Given the description of an element on the screen output the (x, y) to click on. 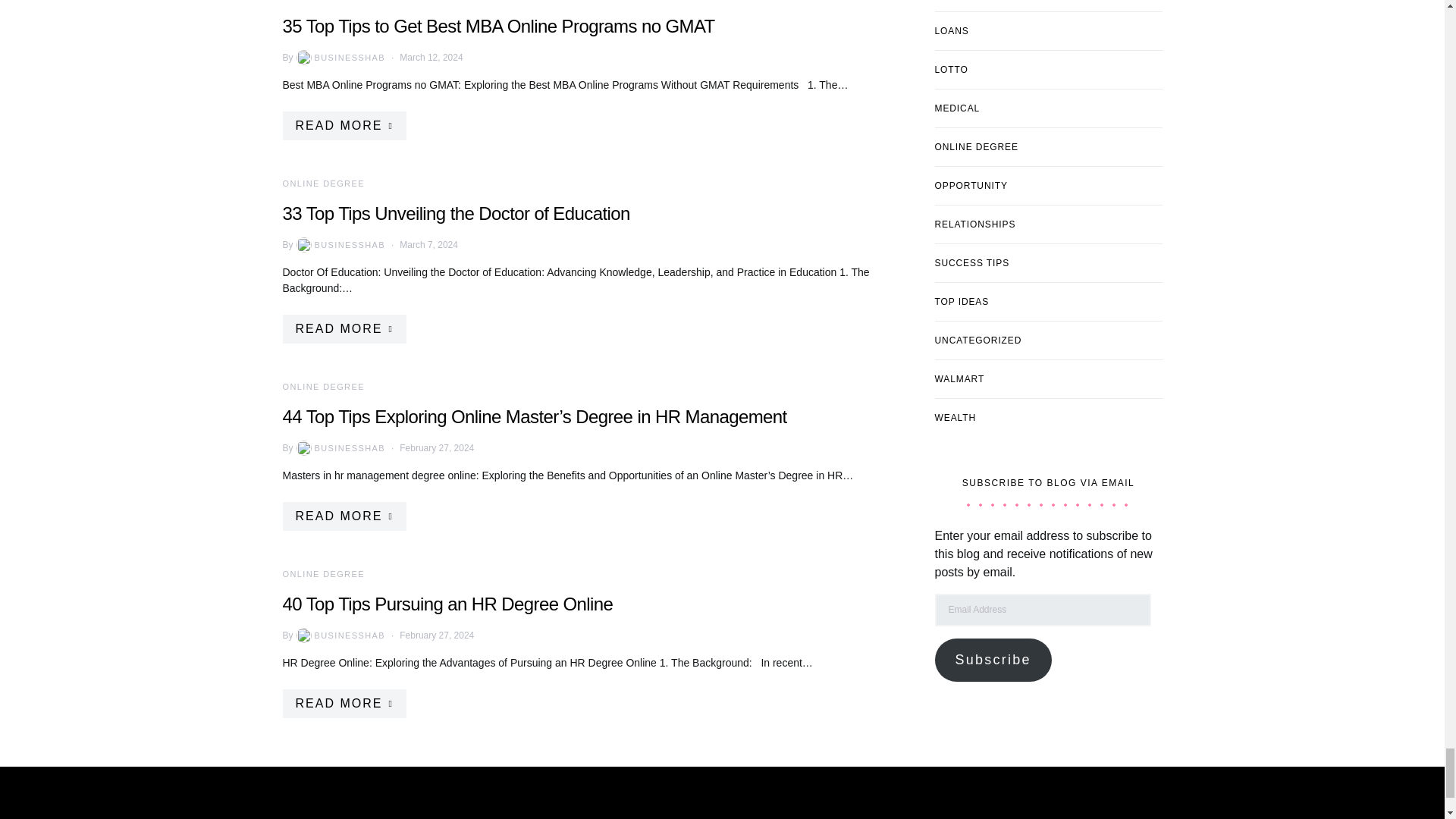
View all posts by BusinessHAB (339, 447)
View all posts by BusinessHAB (339, 244)
View all posts by BusinessHAB (339, 635)
View all posts by BusinessHAB (339, 57)
